Given the description of an element on the screen output the (x, y) to click on. 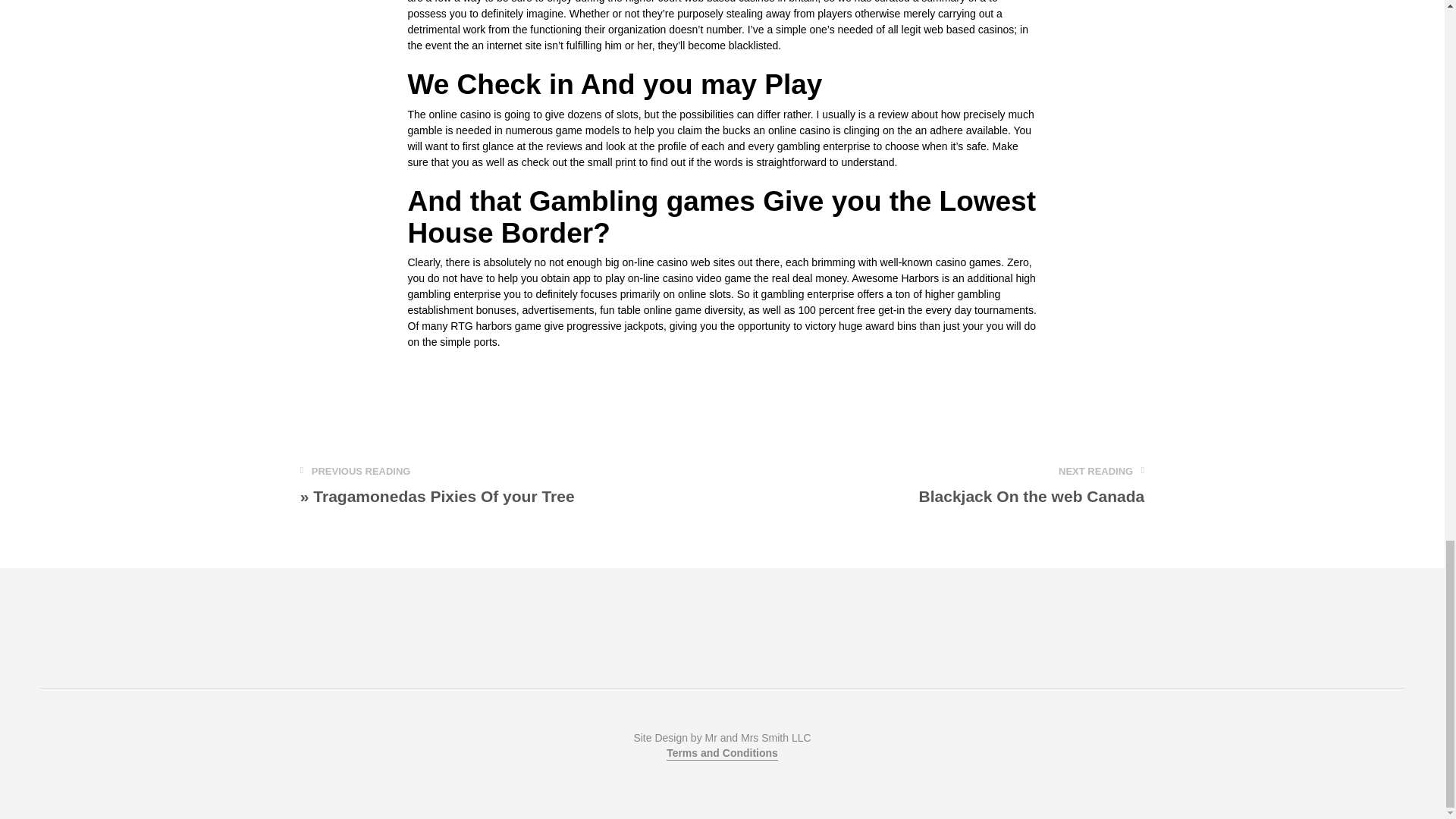
Terms and Conditions (1031, 486)
